Given the description of an element on the screen output the (x, y) to click on. 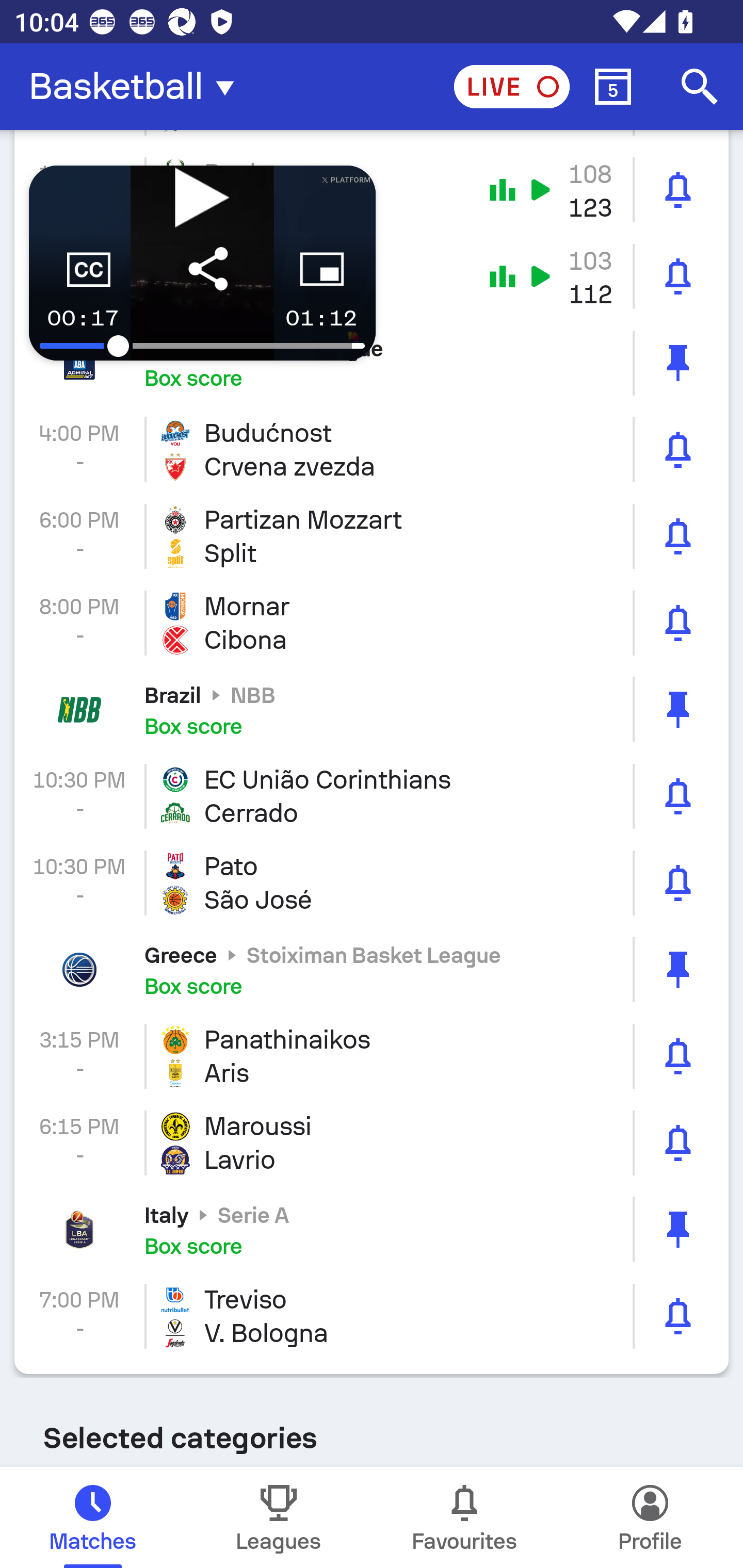
Basketball (137, 86)
Calendar (612, 86)
Search (699, 86)
4:00 PM - Budućnost Crvena zvezda (371, 449)
6:00 PM - Partizan Mozzart Split (371, 536)
8:00 PM - Mornar Cibona (371, 623)
Brazil NBB Box score (371, 709)
10:30 PM - EC União Corinthians Cerrado (371, 796)
10:30 PM - Pato São José (371, 883)
Greece Stoiximan Basket League Box score (371, 969)
3:15 PM - Panathinaikos Aris (371, 1055)
6:15 PM - Maroussi Lavrio (371, 1142)
Italy Serie A Box score (371, 1229)
7:00 PM - Treviso V. Bologna (371, 1316)
Selected categories (371, 1422)
Leagues (278, 1517)
Favourites (464, 1517)
Profile (650, 1517)
